Given the description of an element on the screen output the (x, y) to click on. 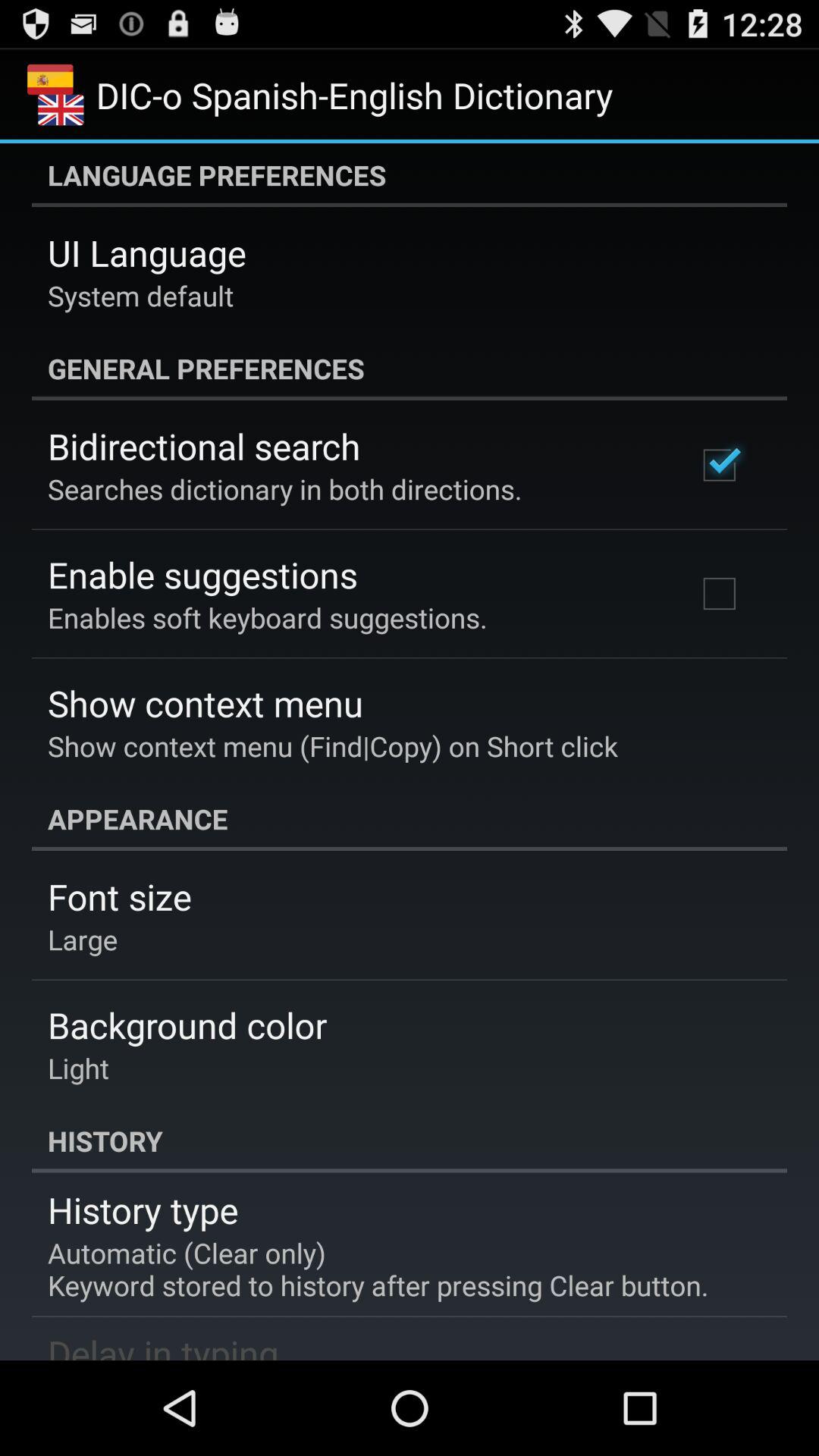
select the icon below the font size icon (82, 939)
